Given the description of an element on the screen output the (x, y) to click on. 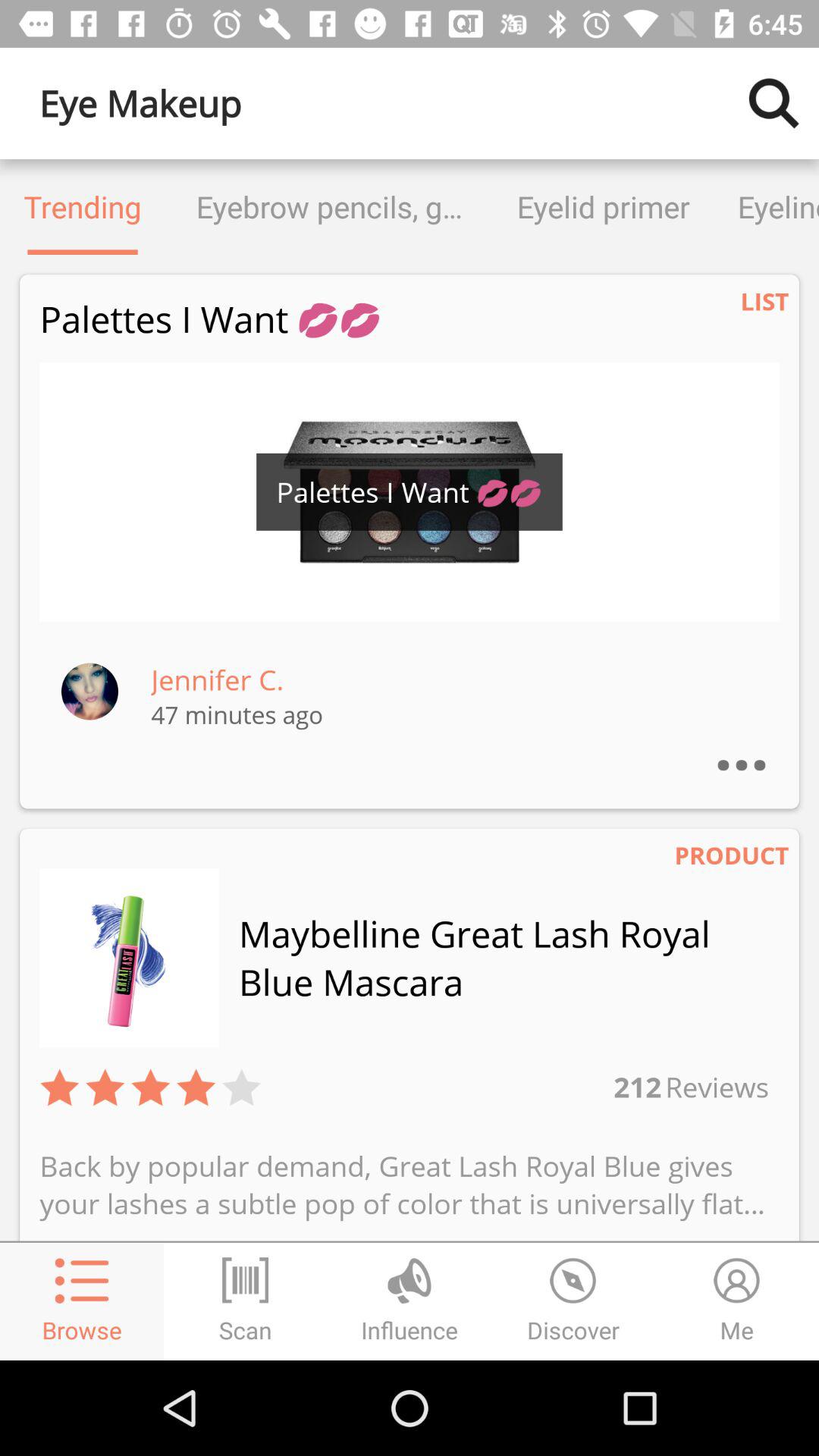
select the item to the left of 212 item (241, 1087)
